Given the description of an element on the screen output the (x, y) to click on. 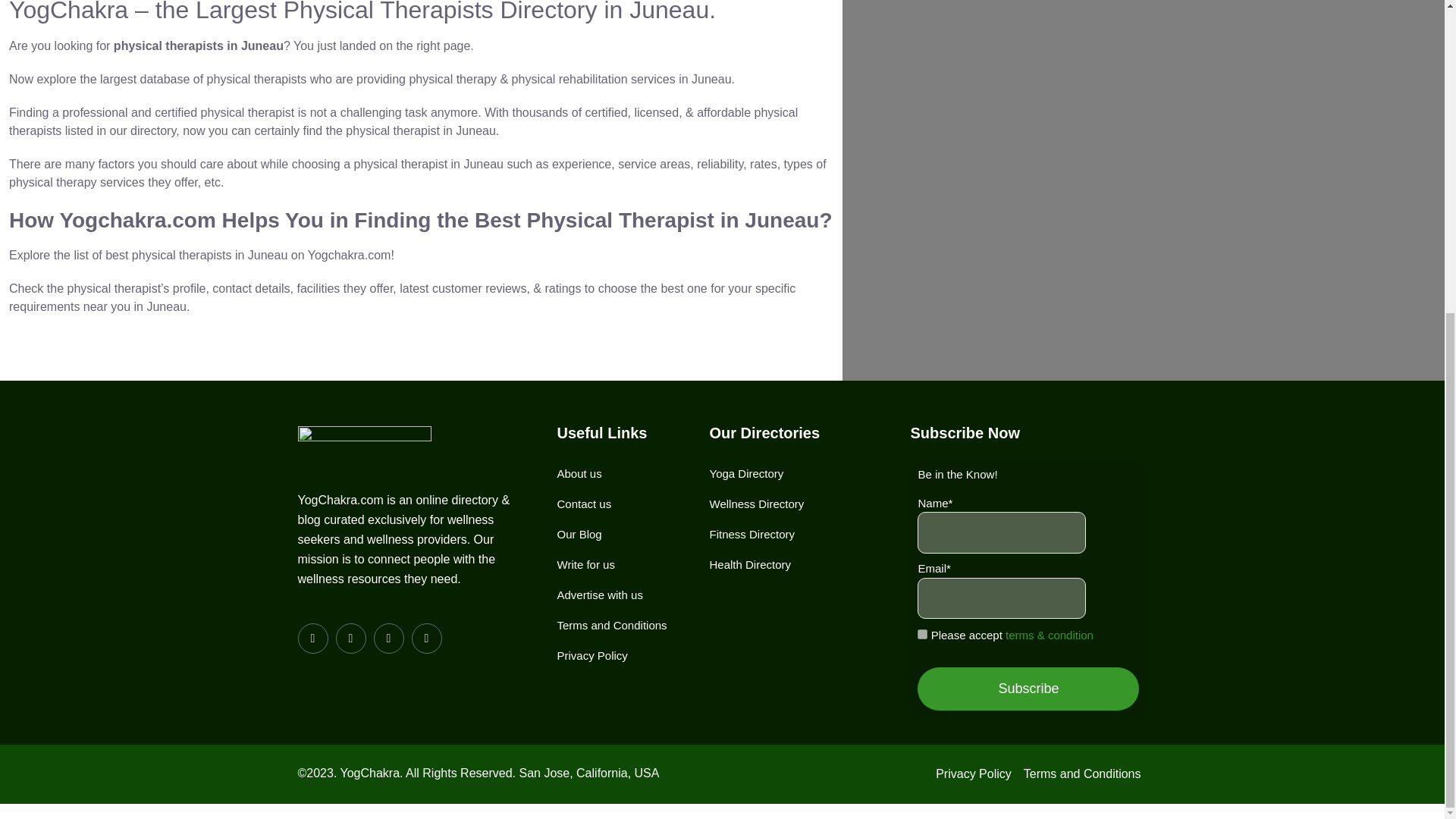
true (922, 634)
Subscribe (1027, 688)
Contact us (583, 503)
Our Blog (578, 534)
About us (578, 473)
